Given the description of an element on the screen output the (x, y) to click on. 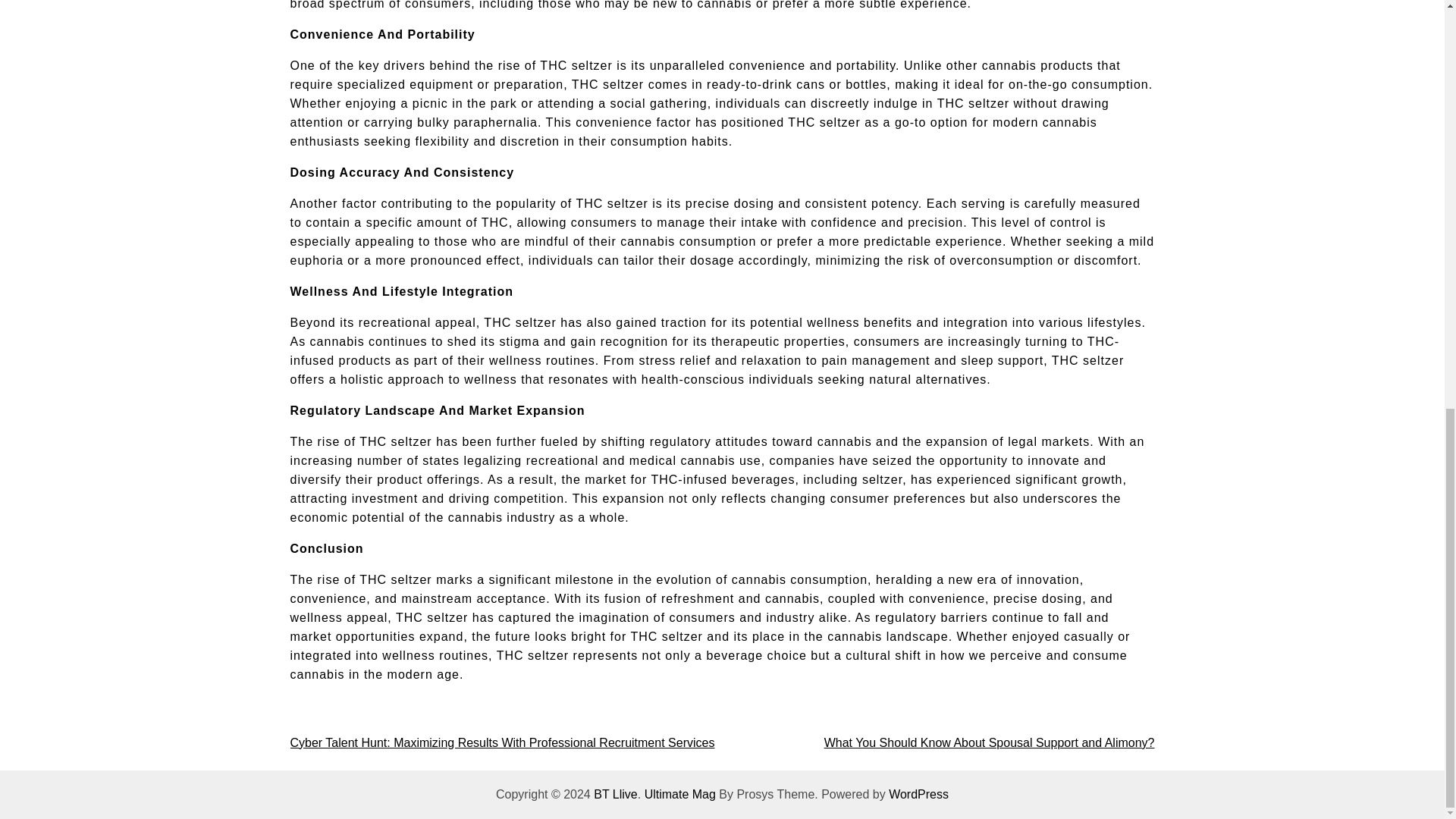
WordPress (918, 793)
BT Llive (615, 793)
Ultimate Mag (680, 793)
What You Should Know About Spousal Support and Alimony? (989, 742)
